Given the description of an element on the screen output the (x, y) to click on. 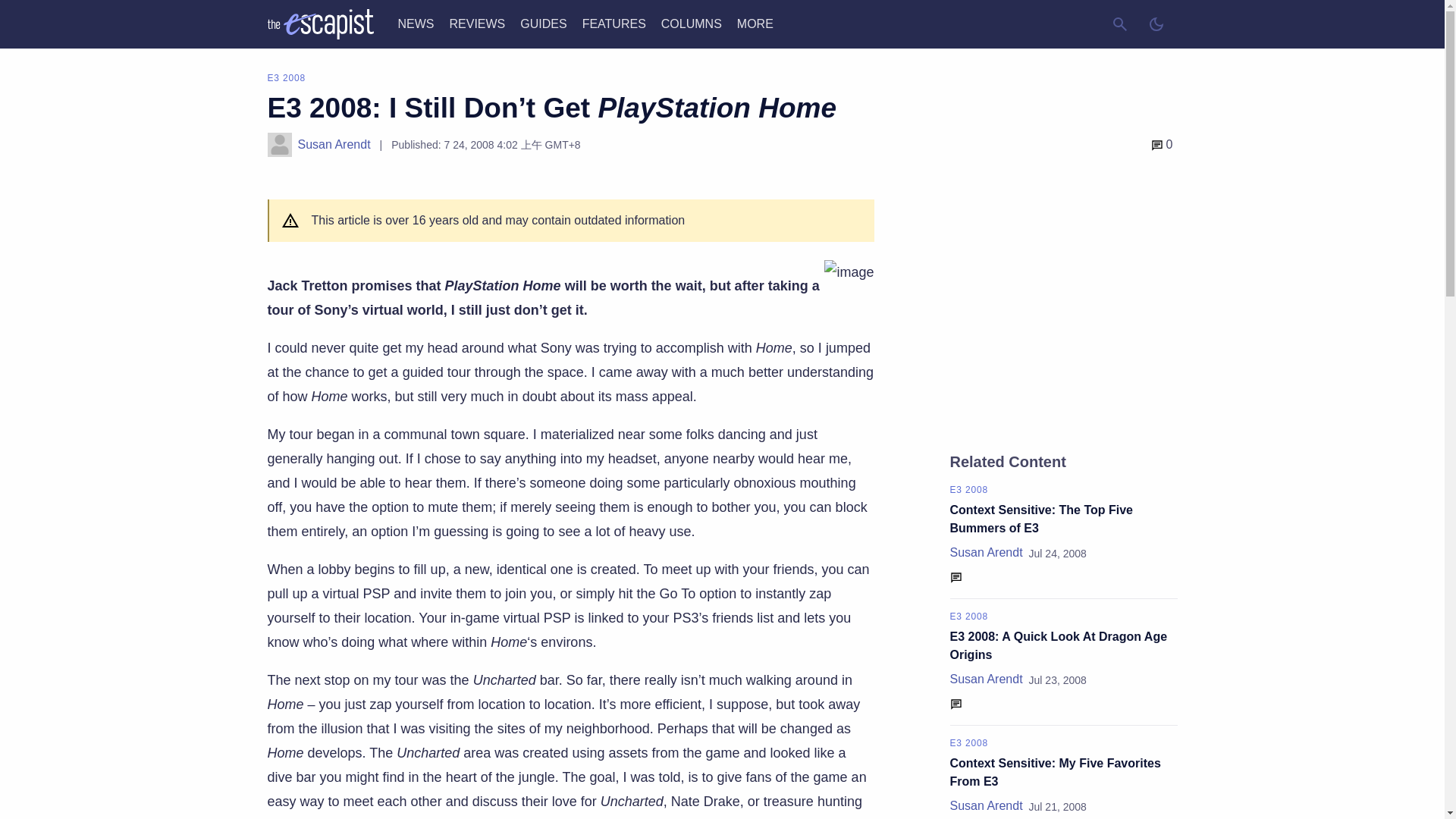
REVIEWS (476, 23)
FEATURES (614, 23)
COLUMNS (691, 23)
Dark Mode (1155, 24)
GUIDES (542, 23)
NEWS (415, 23)
Search (1118, 24)
